Given the description of an element on the screen output the (x, y) to click on. 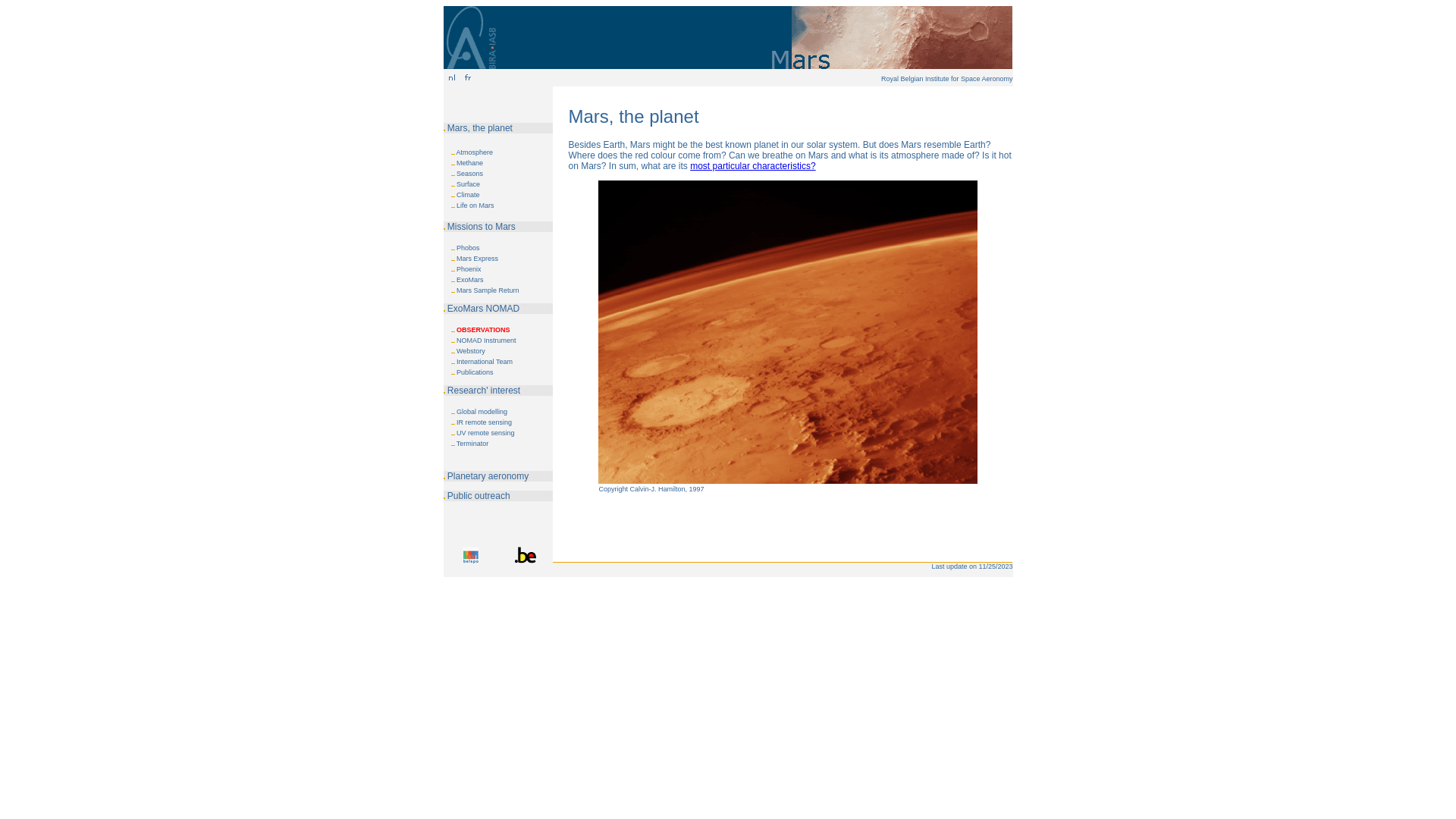
IR remote sensing Element type: text (483, 422)
Life on Mars Element type: text (475, 205)
Public outreach Element type: text (478, 495)
International Team Element type: text (484, 361)
most particular characteristics? Element type: text (752, 165)
Methane Element type: text (469, 162)
Climate Element type: text (468, 194)
Phoenix Element type: text (468, 269)
UV remote sensing Element type: text (485, 432)
Mars, the planet Element type: text (479, 127)
Missions to Mars Element type: text (481, 226)
Royal Belgian Institute for Space Aeronomy Element type: text (947, 78)
Terminator Element type: text (472, 443)
Research' interest Element type: text (483, 390)
Mars Sample Return Element type: text (487, 290)
Surface Element type: text (468, 184)
ExoMars Element type: text (469, 279)
Seasons Element type: text (469, 173)
Publications Element type: text (474, 372)
Webstory Element type: text (470, 350)
OBSERVATIONS Element type: text (483, 329)
ExoMars NOMAD Element type: text (483, 308)
Mars Express Element type: text (477, 258)
Phobos Element type: text (468, 247)
NOMAD Instrument Element type: text (486, 340)
Global modelling Element type: text (481, 411)
Planetary aeronomy Element type: text (487, 475)
Atmosphere Element type: text (474, 152)
